Given the description of an element on the screen output the (x, y) to click on. 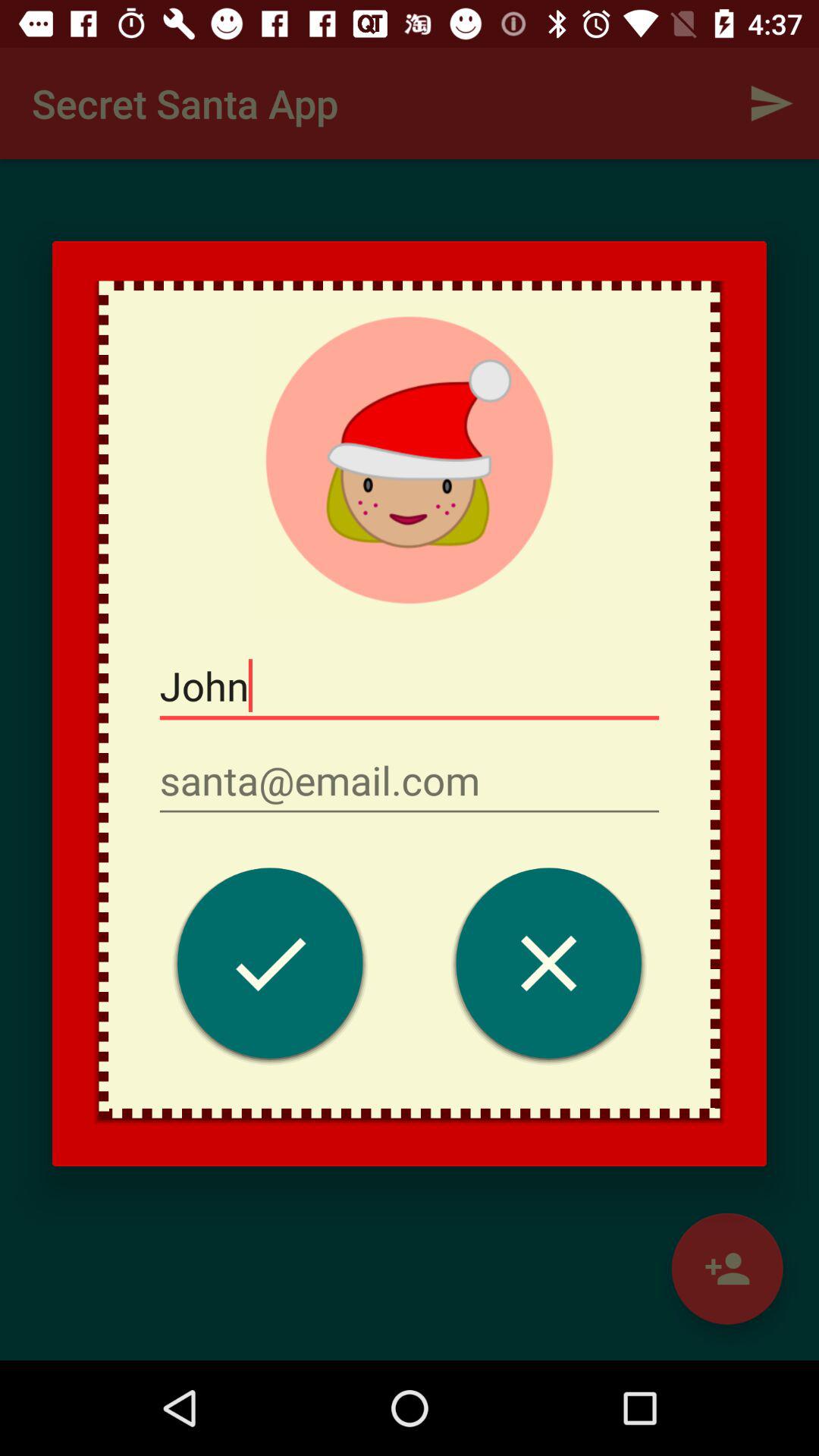
turn on icon on the right (548, 966)
